Given the description of an element on the screen output the (x, y) to click on. 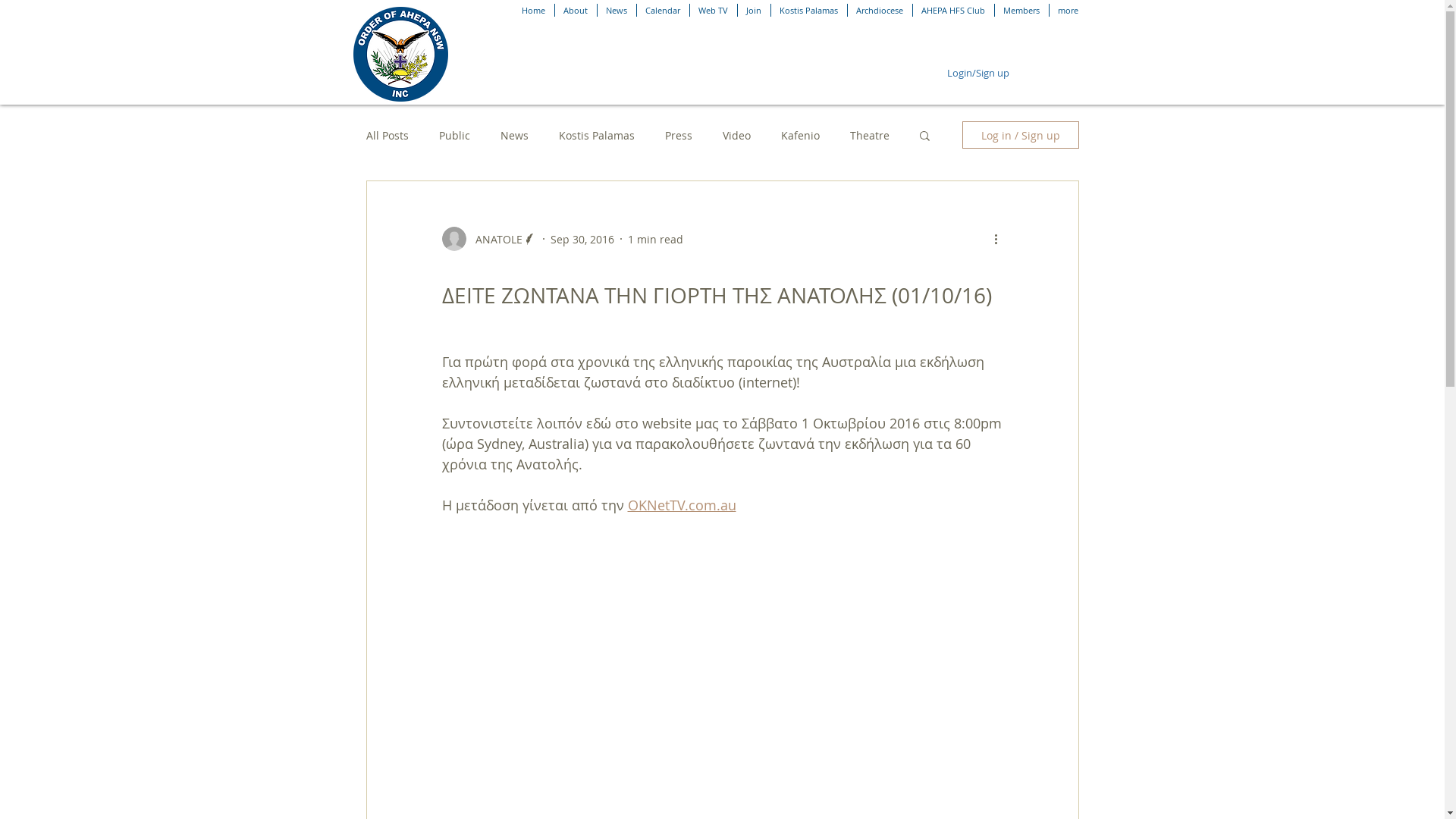
AHEPA HFS Club Element type: text (953, 9)
News Element type: text (514, 134)
Archdiocese Element type: text (879, 9)
Log in / Sign up Element type: text (1019, 134)
Members Element type: text (1021, 9)
Video Element type: text (735, 134)
Public Element type: text (453, 134)
Login/Sign up Element type: text (977, 72)
Home Element type: text (532, 9)
Theatre Element type: text (868, 134)
Kafenio Element type: text (800, 134)
Calendar Element type: text (663, 9)
Press Element type: text (677, 134)
About Element type: text (575, 9)
Kostis Palamas Element type: text (595, 134)
Kostis Palamas Element type: text (808, 9)
Join Element type: text (753, 9)
News Element type: text (616, 9)
All Posts Element type: text (386, 134)
Web TV Element type: text (713, 9)
OKNetTV.com.au Element type: text (681, 504)
